Given the description of an element on the screen output the (x, y) to click on. 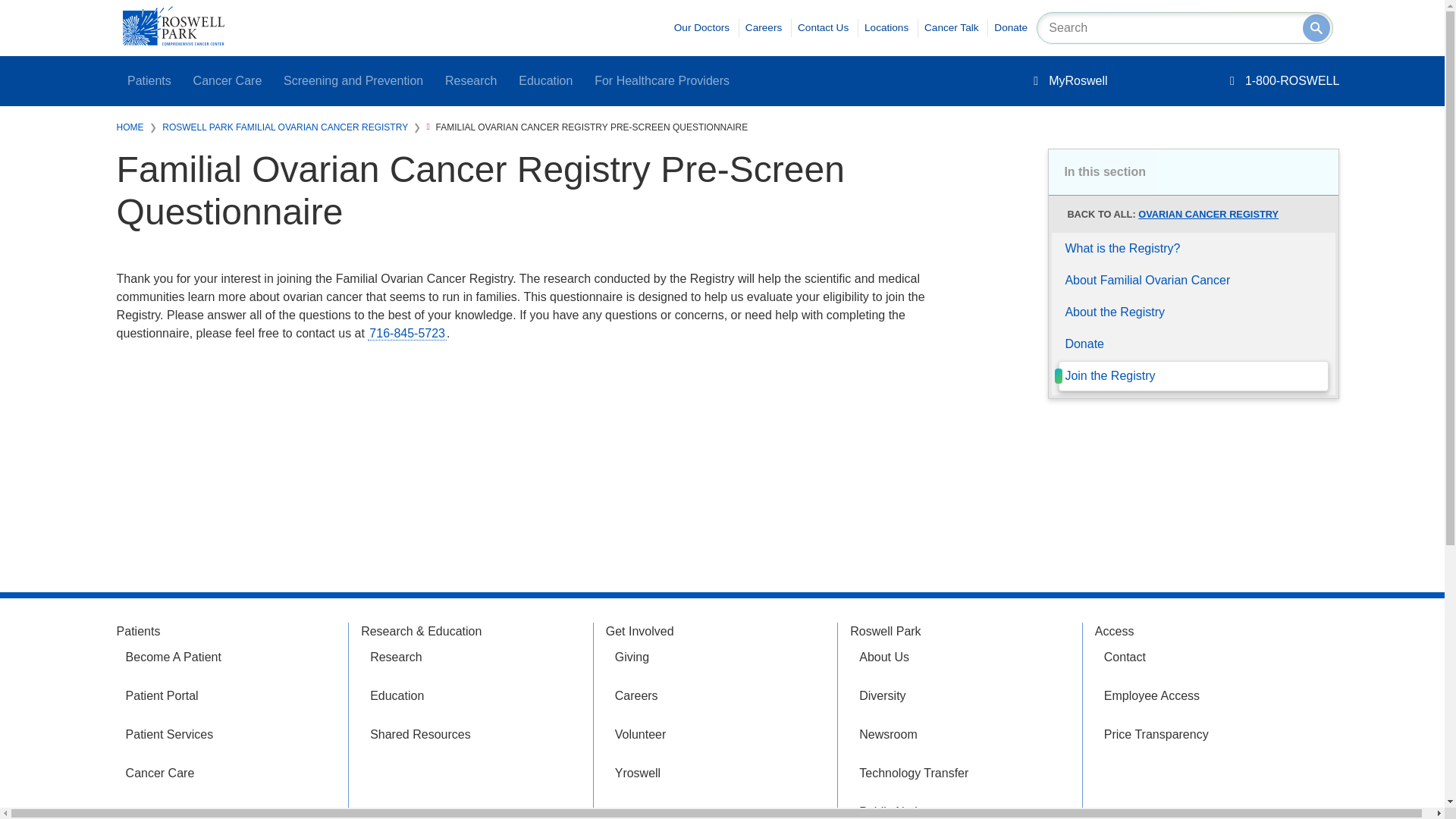
Patients (149, 81)
Home (173, 41)
